Given the description of an element on the screen output the (x, y) to click on. 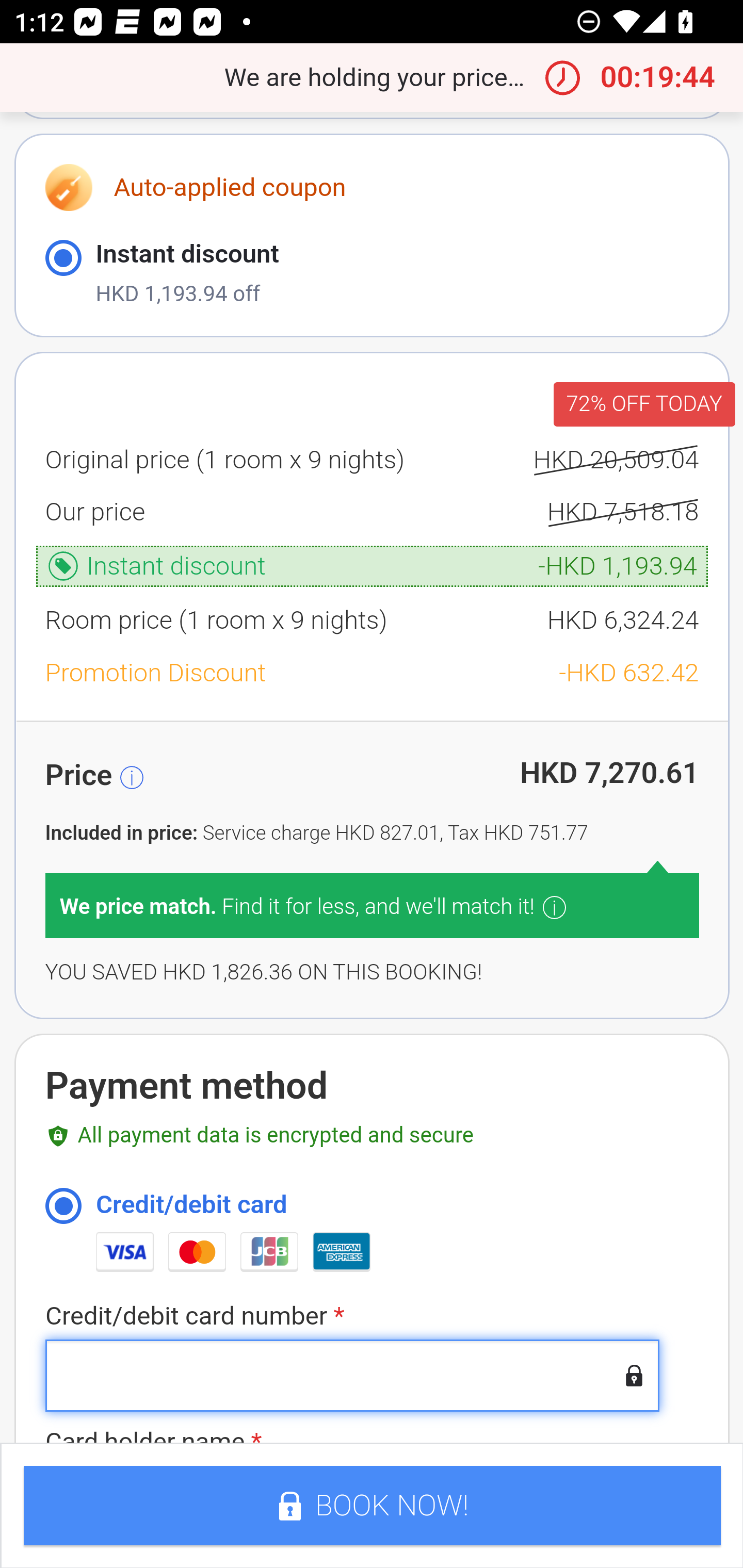
Instant discount HKD 1,193.94 off (371, 273)
Credit/debit card (63, 1207)
Visa MasterCard JCB American Express (396, 1251)
BOOK NOW! (371, 1506)
